Given the description of an element on the screen output the (x, y) to click on. 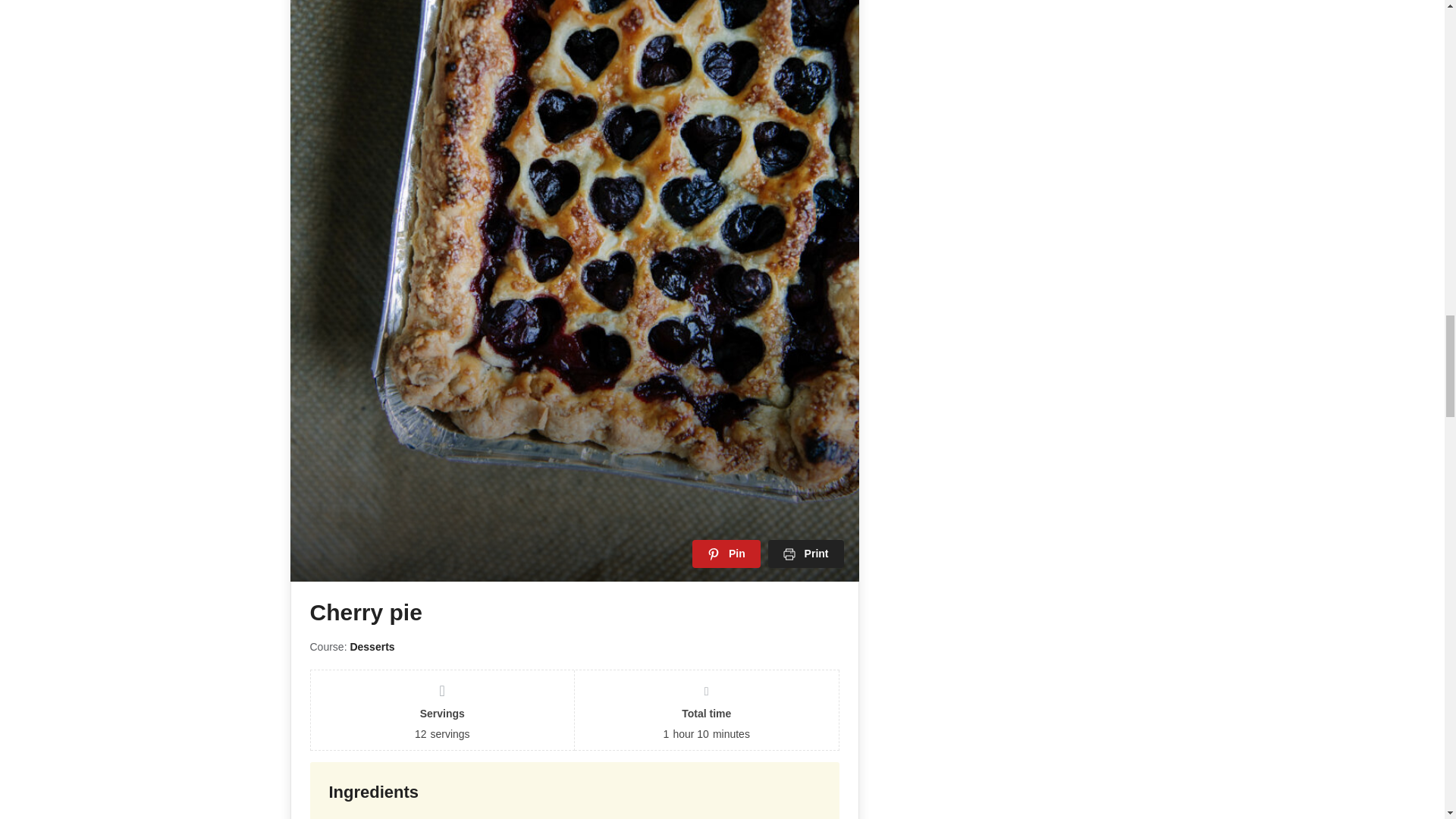
Pin (726, 553)
Print directions... (806, 553)
Print (806, 553)
